Given the description of an element on the screen output the (x, y) to click on. 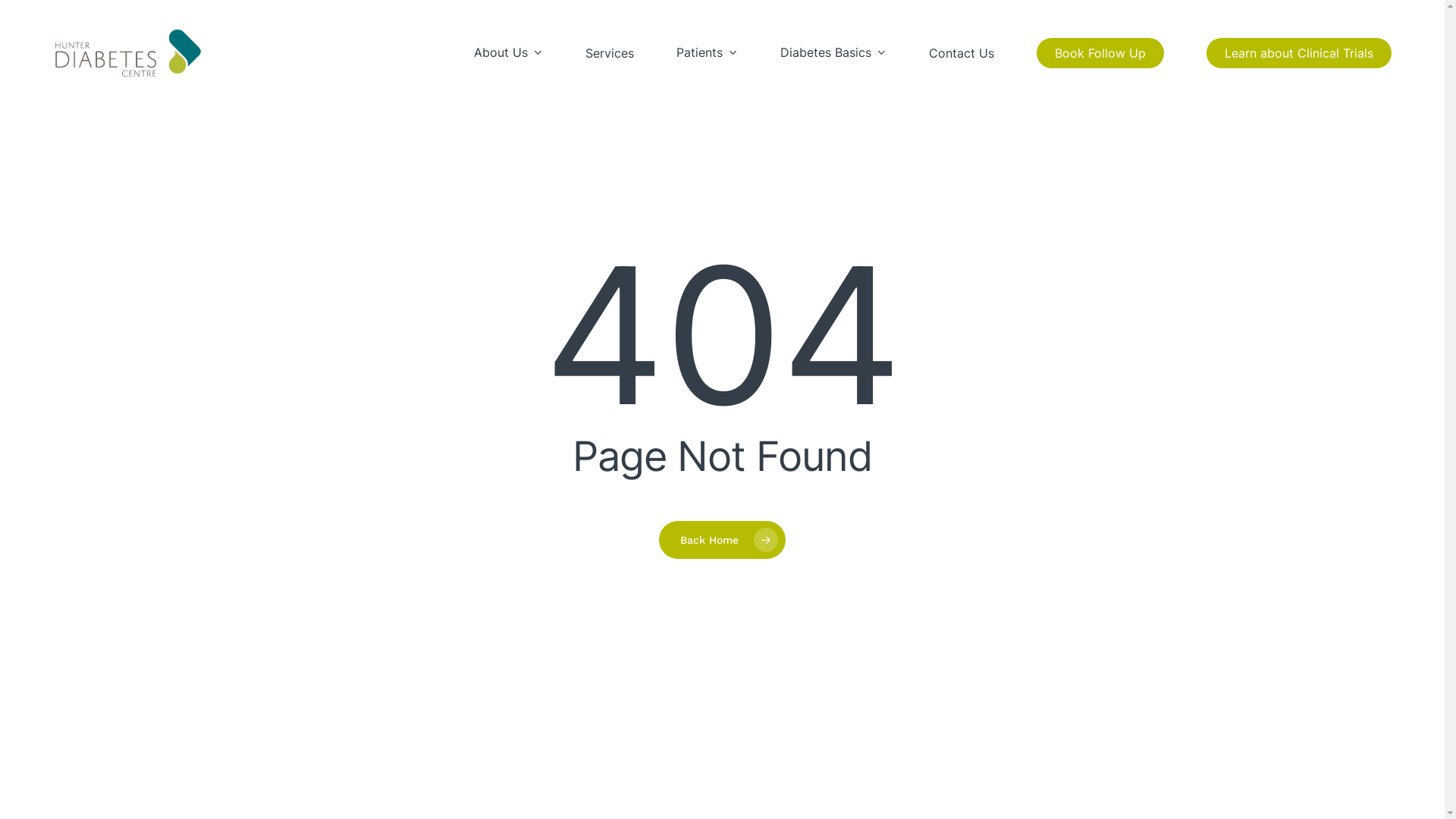
Contact Us Element type: text (961, 53)
Learn about Clinical Trials Element type: text (1298, 52)
Back Home Element type: text (721, 539)
Book Follow Up Element type: text (1100, 52)
Diabetes Basics Element type: text (833, 52)
Services Element type: text (609, 53)
About Us Element type: text (507, 52)
Patients Element type: text (706, 52)
